Given the description of an element on the screen output the (x, y) to click on. 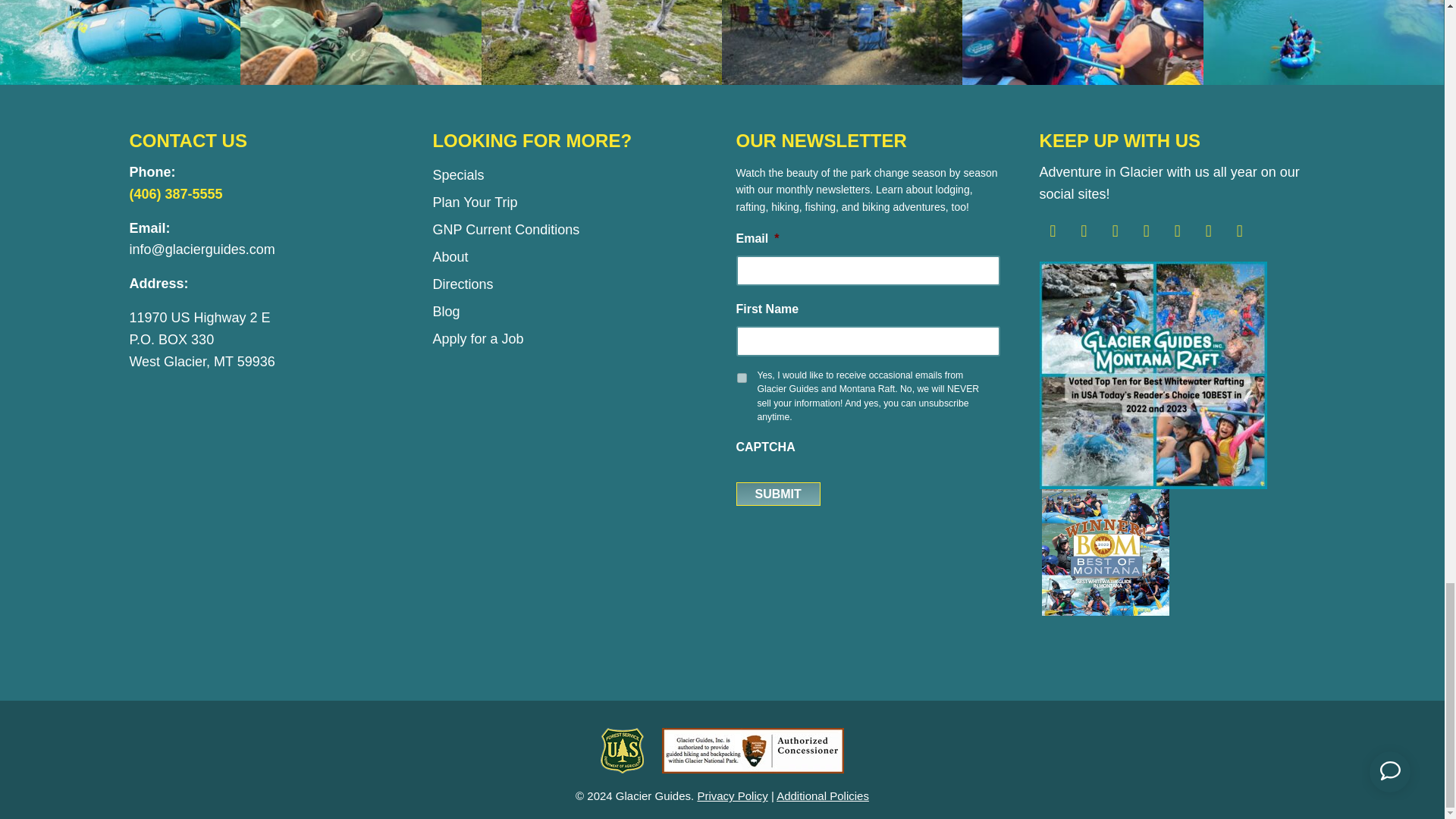
yes (741, 378)
Submit (777, 494)
